Given the description of an element on the screen output the (x, y) to click on. 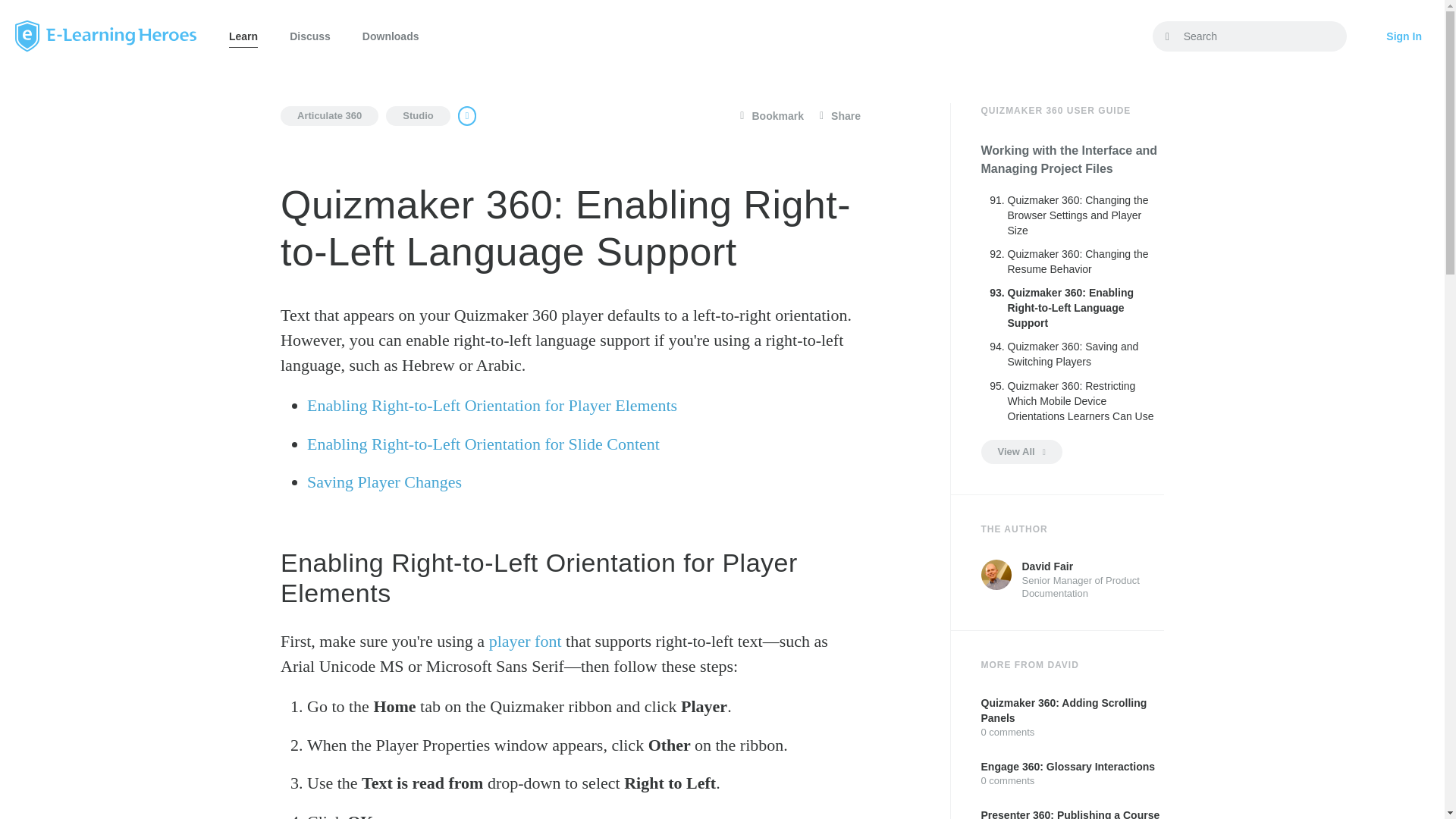
Sign In (1404, 36)
Studio (417, 116)
E-Learning Heroes (105, 36)
David Fair (996, 574)
Articulate 360 (329, 116)
